Given the description of an element on the screen output the (x, y) to click on. 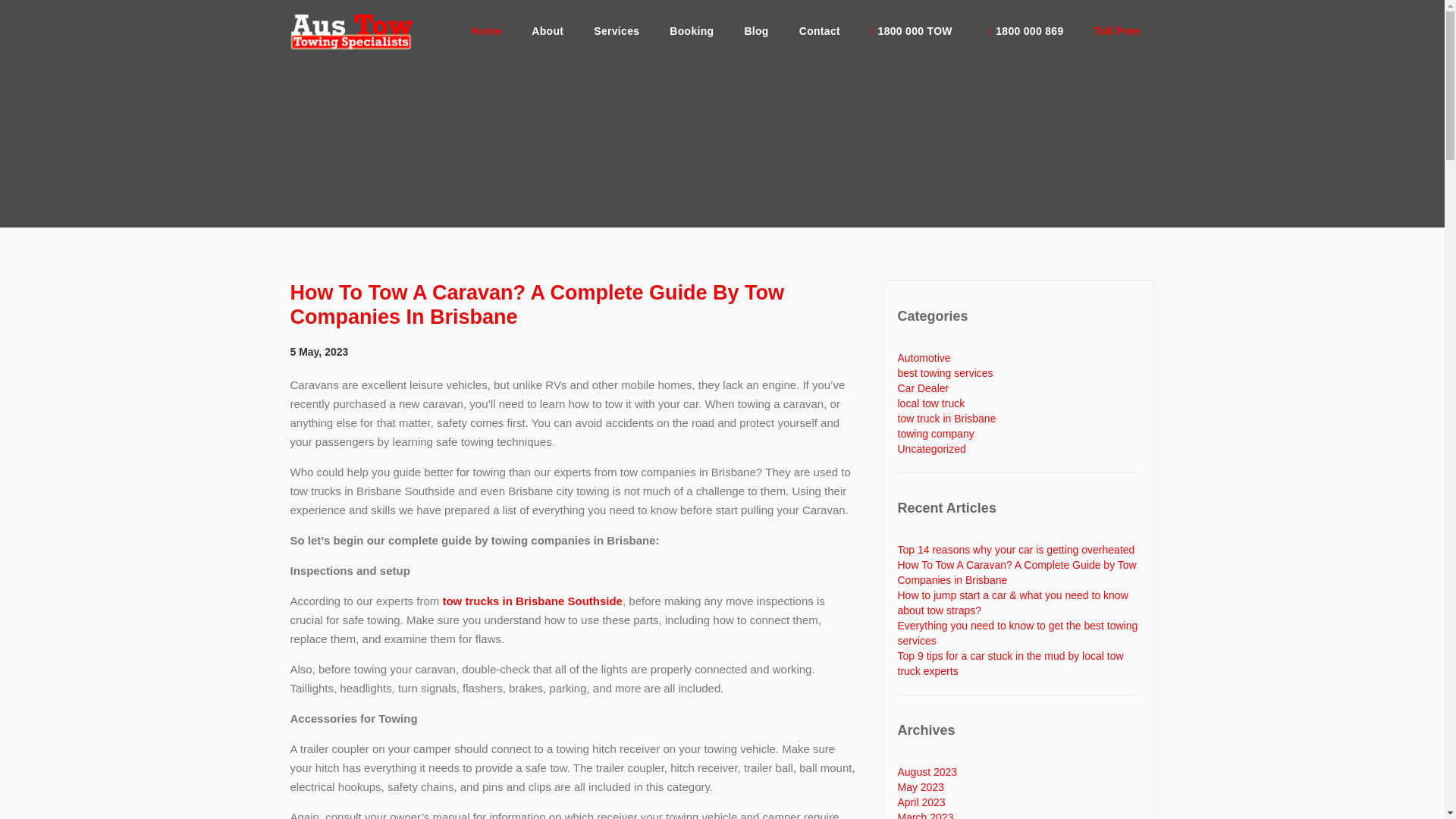
Booking (691, 30)
August 2023 (928, 771)
best towing services (945, 372)
tow truck in Brisbane (946, 418)
Top 14 reasons why your car is getting overheated (1016, 549)
Contact (820, 30)
Automotive (924, 357)
Toll Free (1116, 30)
1800 000 TOW (912, 30)
About (547, 30)
Uncategorized (932, 449)
Services (615, 30)
Blog (756, 30)
local tow truck (931, 403)
